Given the description of an element on the screen output the (x, y) to click on. 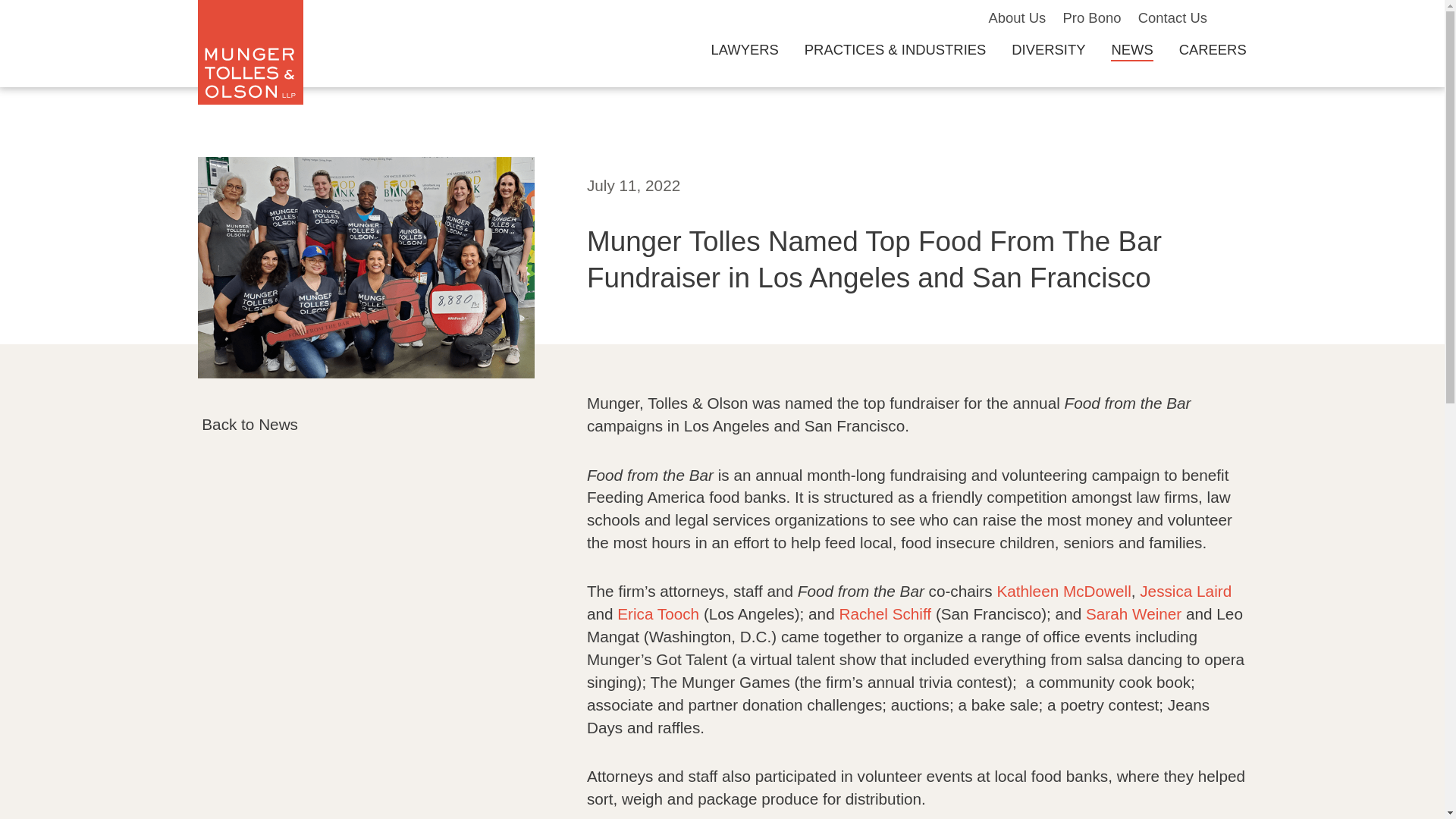
LAWYERS (743, 49)
Contact Us (1172, 17)
Pro Bono (1091, 17)
About Us (1016, 17)
